Given the description of an element on the screen output the (x, y) to click on. 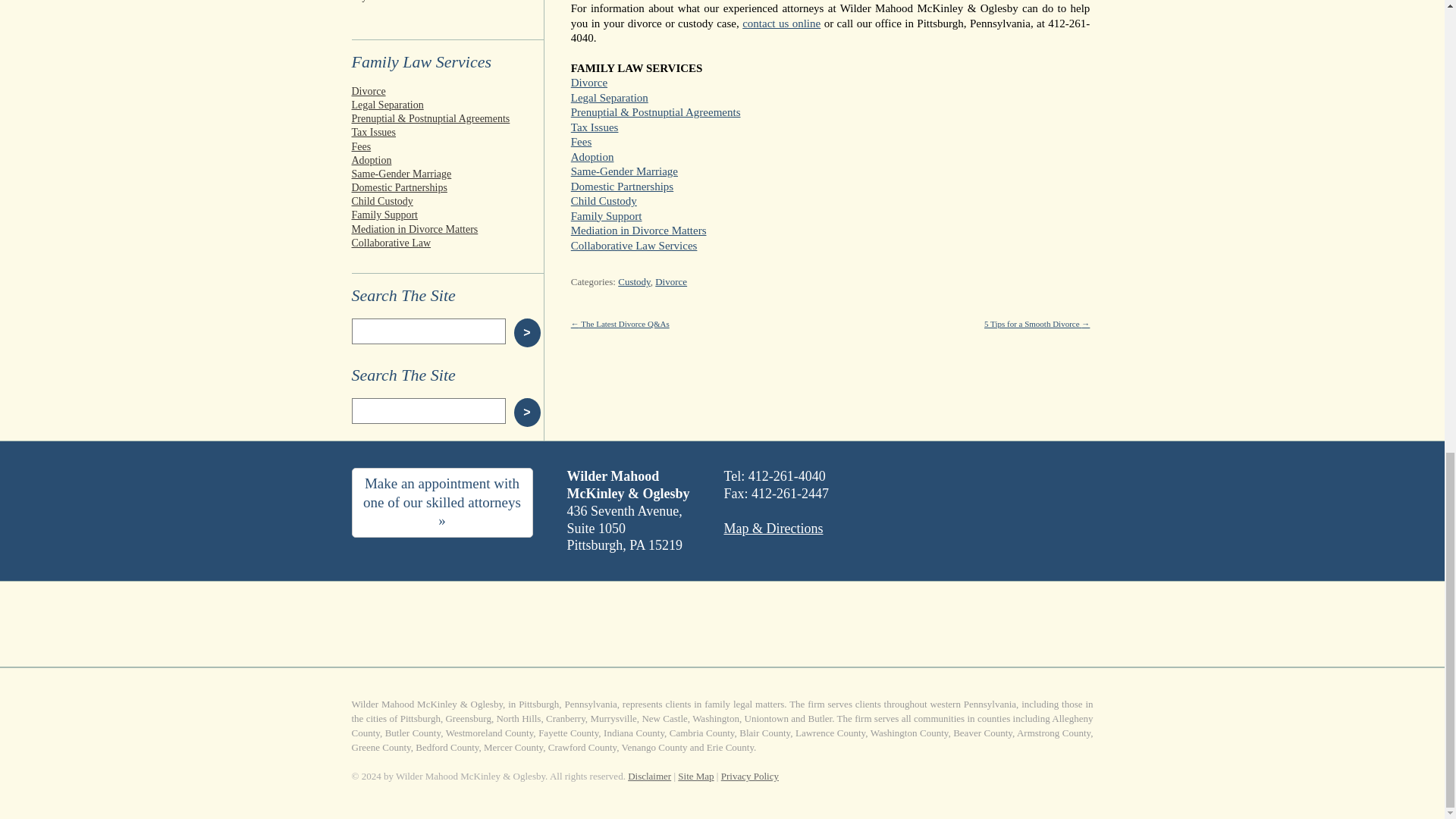
Fees (448, 146)
Tax Issues (448, 132)
Same-Gender Marriage (448, 173)
Family Support (448, 214)
Divorce (448, 91)
Collaborative Law (448, 243)
Child Custody (448, 201)
Legal Separation (448, 105)
Adoption (448, 160)
Domestic Partnerships (448, 187)
Mediation in Divorce Matters (448, 229)
